Given the description of an element on the screen output the (x, y) to click on. 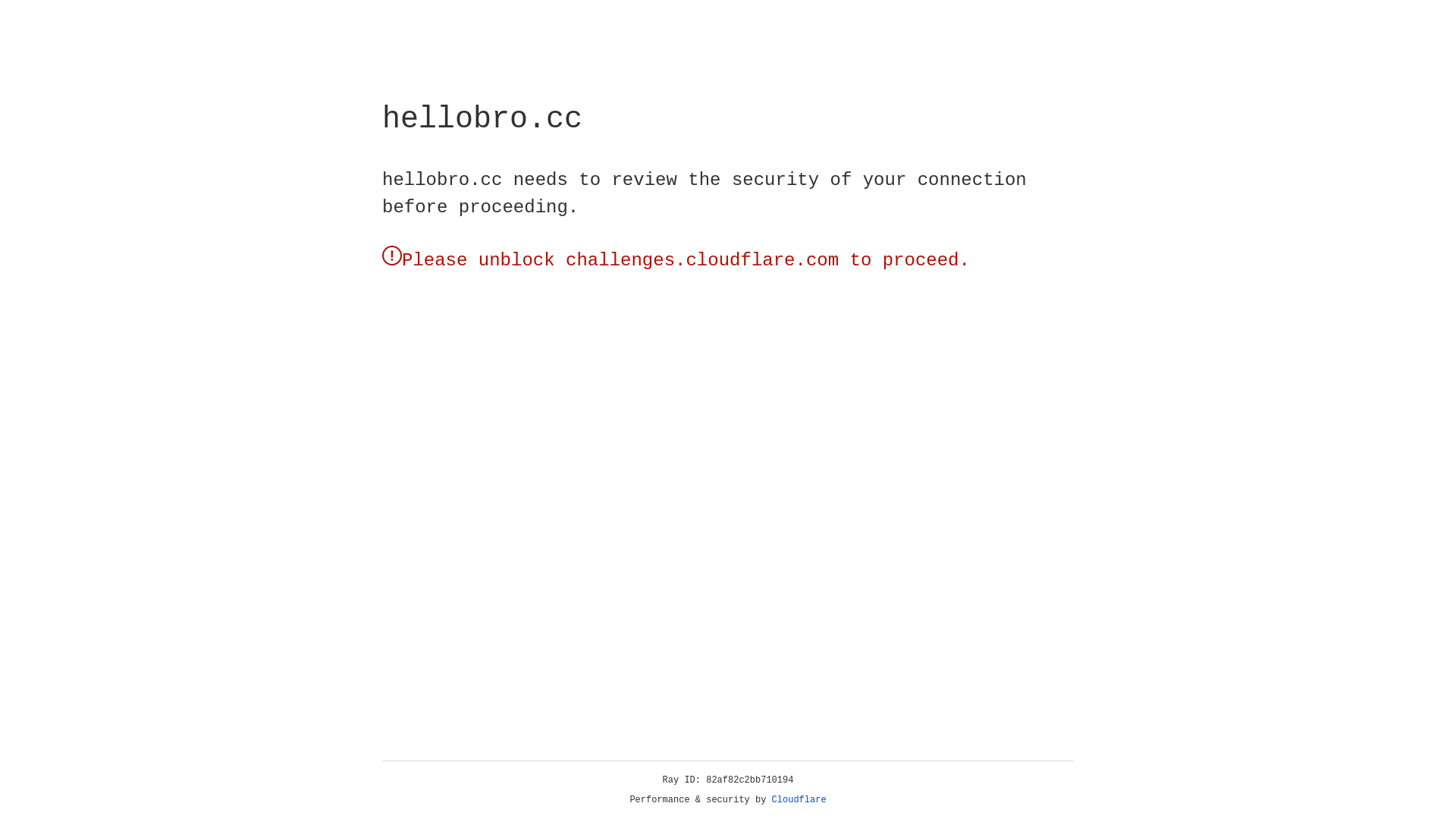
Cloudflare Element type: text (798, 799)
